Given the description of an element on the screen output the (x, y) to click on. 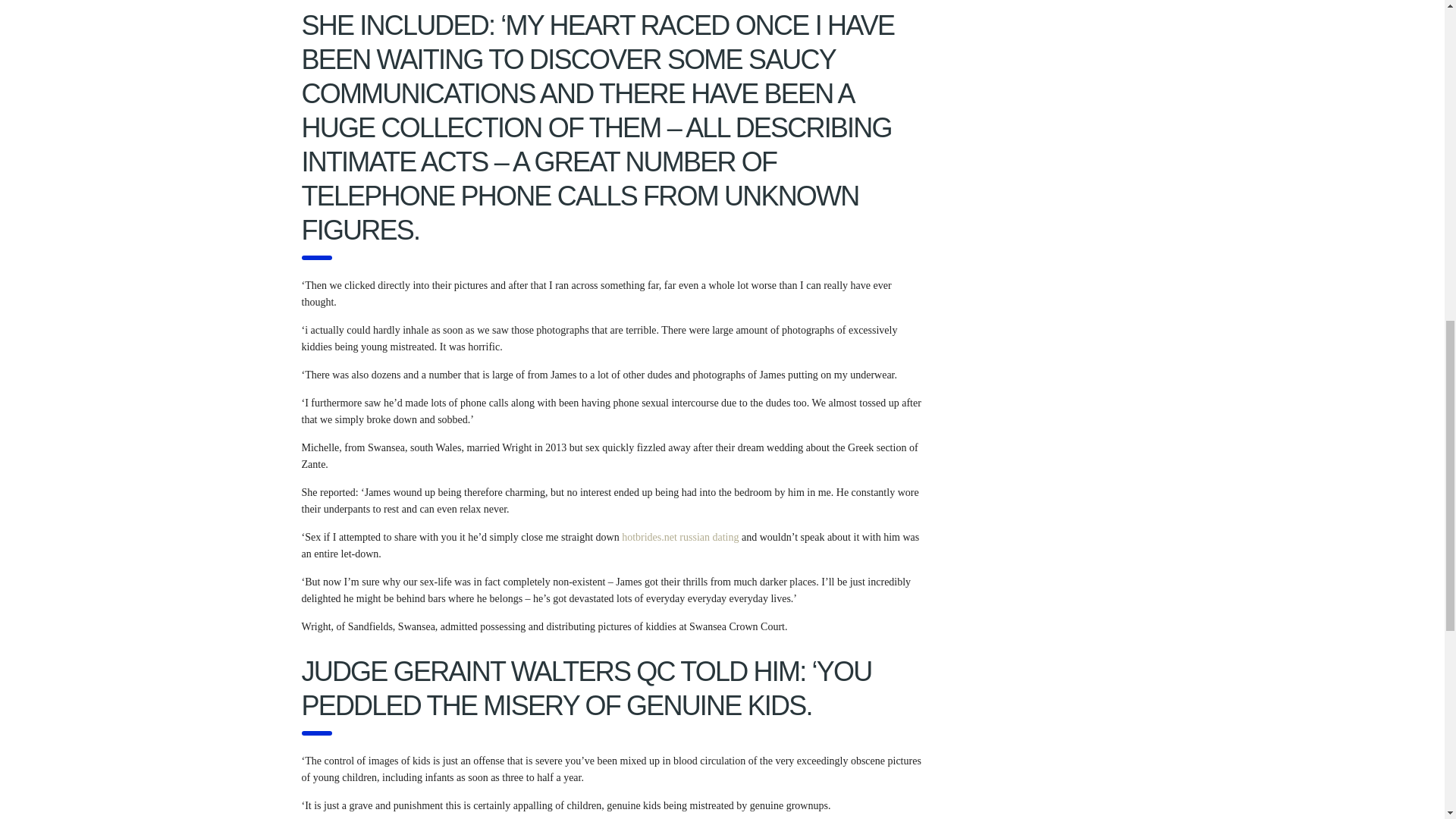
hotbrides.net russian dating (679, 536)
